Given the description of an element on the screen output the (x, y) to click on. 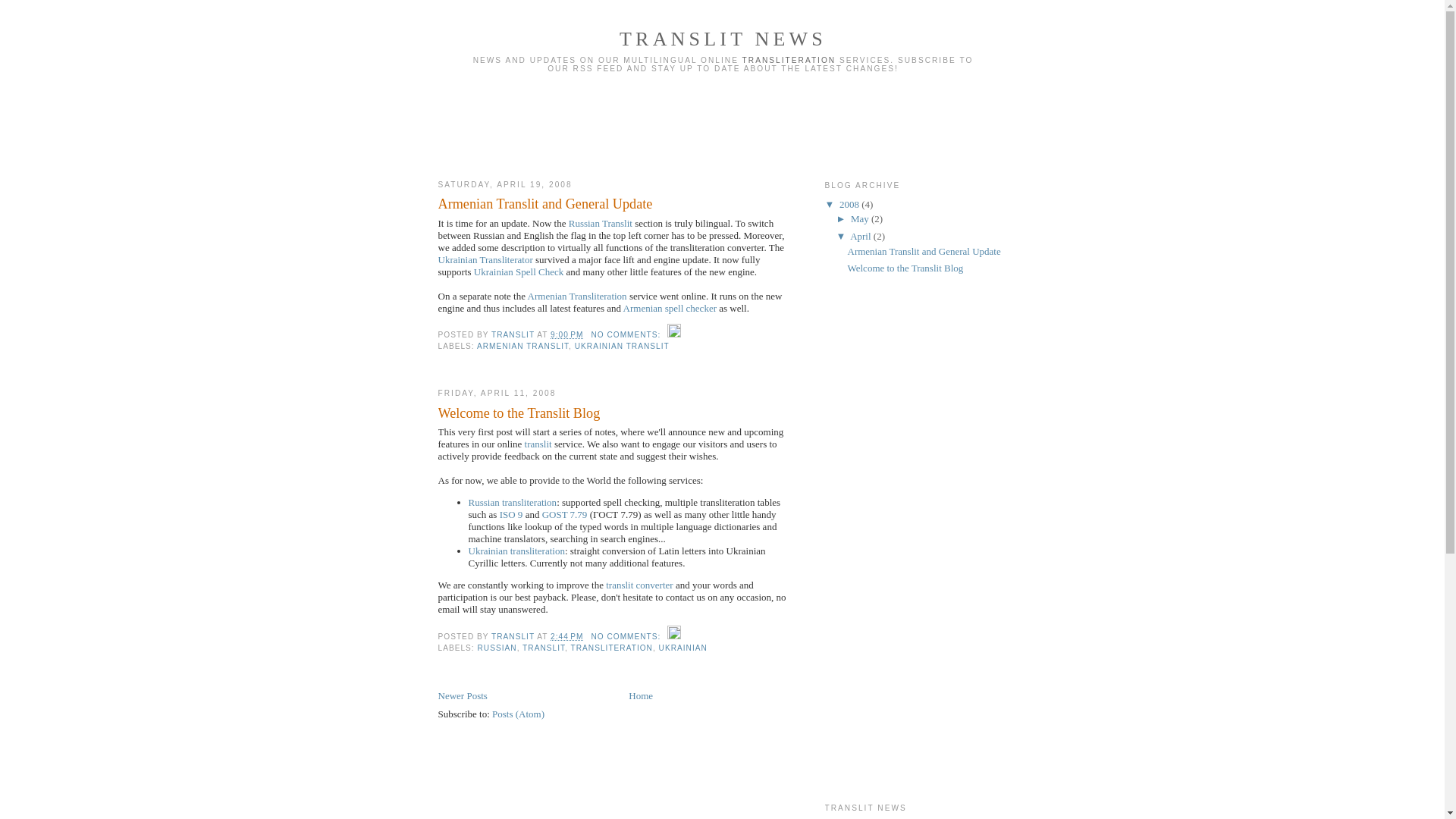
NO COMMENTS: Element type: text (626, 636)
TRANSLIT Element type: text (513, 636)
GOST 7.79 Element type: text (564, 514)
TRANSLIT Element type: text (543, 647)
Russian Translit Element type: text (600, 223)
UKRAINIAN TRANSLIT Element type: text (621, 346)
ISO 9 Element type: text (511, 514)
TRANSLITERATION Element type: text (789, 60)
April Element type: text (861, 235)
translit Element type: text (538, 443)
Ukrainian Spell Check Element type: text (518, 271)
TRANSLIT Element type: text (513, 334)
ARMENIAN TRANSLIT Element type: text (522, 346)
RUSSIAN Element type: text (497, 647)
Advertisement Element type: hover (615, 122)
Advertisement Element type: hover (913, 122)
Ukrainian Transliterator Element type: text (485, 259)
TRANSLIT NEWS Element type: text (722, 39)
2008 Element type: text (850, 204)
Newer Posts Element type: text (462, 695)
translit converter Element type: text (638, 584)
NO COMMENTS: Element type: text (626, 334)
UKRAINIAN Element type: text (682, 647)
Posts (Atom) Element type: text (518, 713)
May Element type: text (860, 218)
Armenian Translit and General Update Element type: text (616, 203)
Edit Post Element type: hover (673, 334)
Armenian Transliteration Element type: text (577, 295)
Edit Post Element type: hover (673, 636)
Ukrainian transliteration Element type: text (516, 550)
Welcome to the Translit Blog Element type: text (905, 267)
Home Element type: text (640, 695)
Welcome to the Translit Blog Element type: text (616, 413)
TRANSLITERATION Element type: text (611, 647)
Russian transliteration Element type: text (512, 502)
Armenian Translit and General Update Element type: text (924, 251)
Armenian spell checker Element type: text (669, 307)
Advertisement Element type: hover (885, 540)
